Given the description of an element on the screen output the (x, y) to click on. 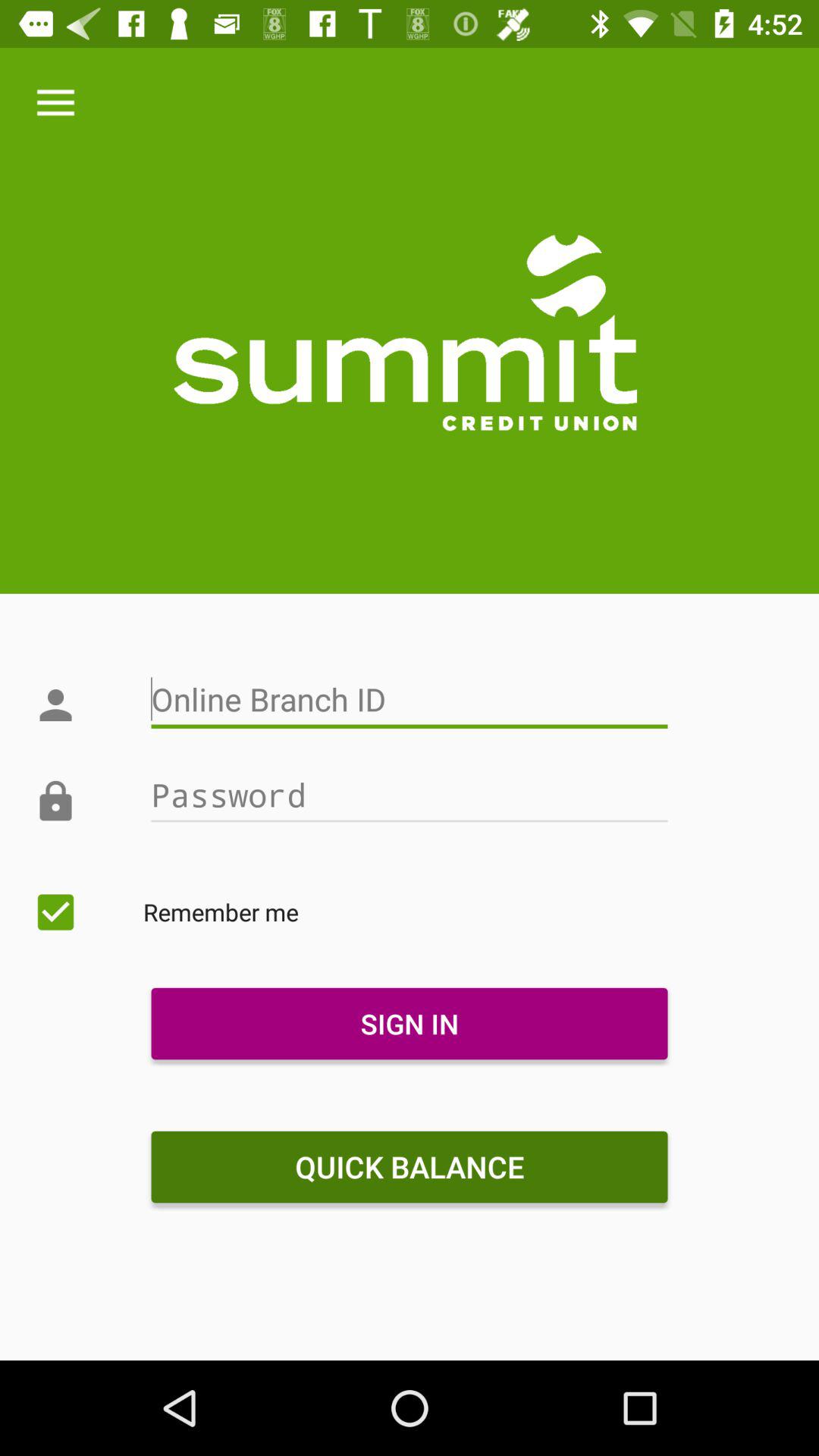
click item to the left of the remember me icon (55, 912)
